Given the description of an element on the screen output the (x, y) to click on. 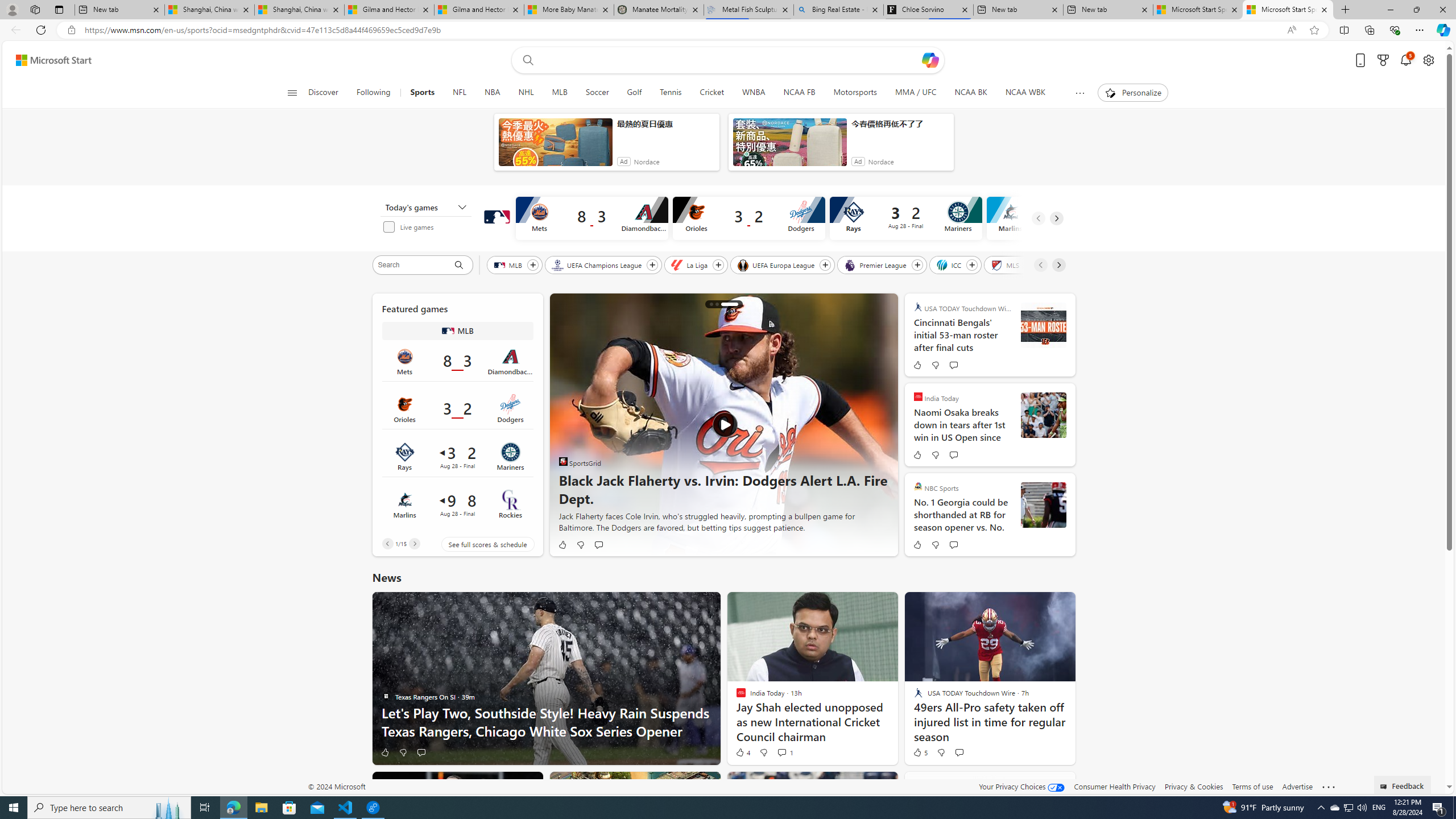
Class: play-icon (724, 424)
Consumer Health Privacy (1115, 786)
Start the conversation (958, 751)
Premier League (876, 264)
Skip to content (49, 59)
View site information (70, 29)
Tennis (670, 92)
Shanghai, China weather forecast | Microsoft Weather (298, 9)
MMA / UFC (915, 92)
NBA (492, 92)
NFL (458, 92)
Sports (422, 92)
